Given the description of an element on the screen output the (x, y) to click on. 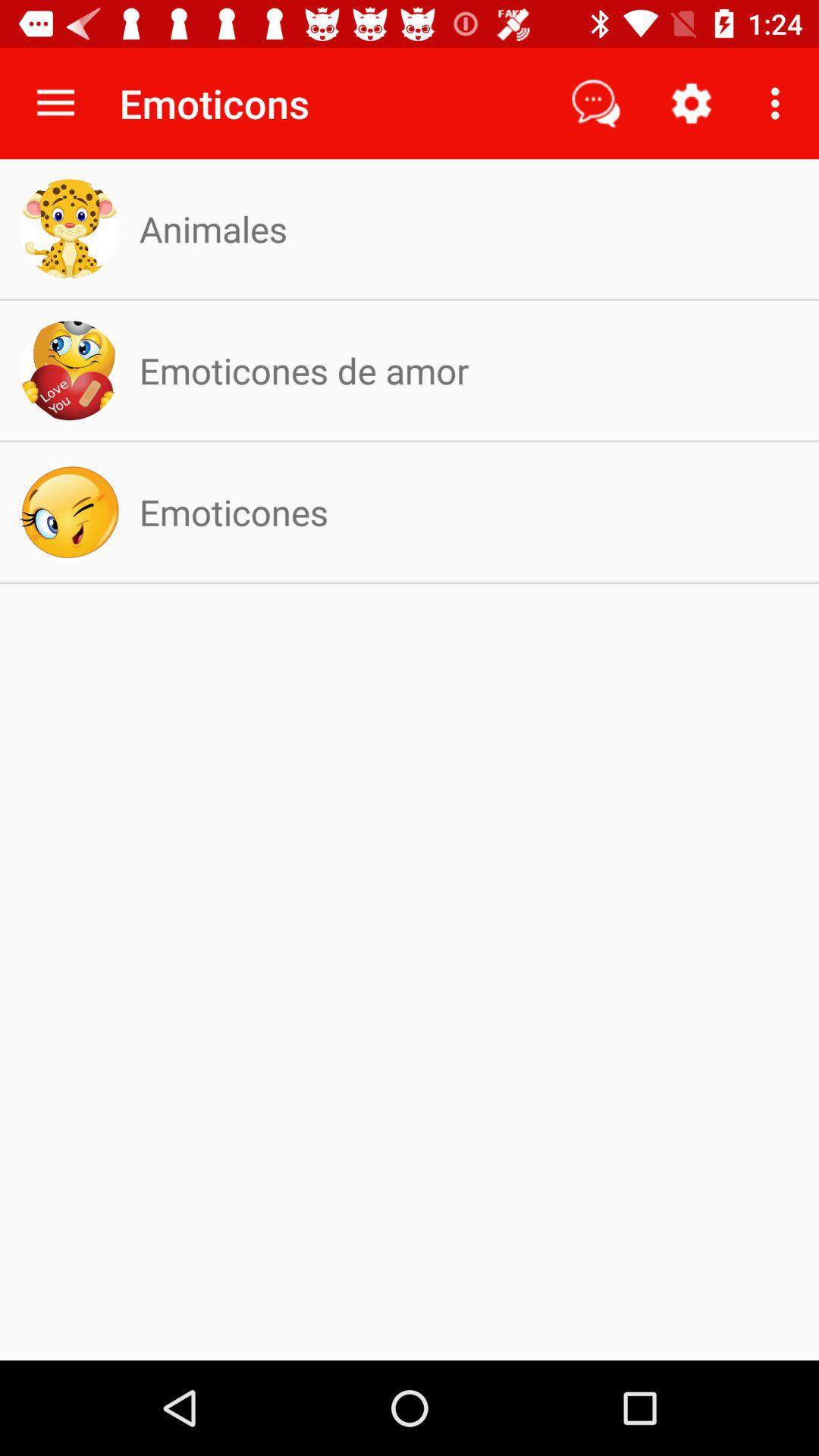
turn off the item to the left of emoticons (55, 103)
